Given the description of an element on the screen output the (x, y) to click on. 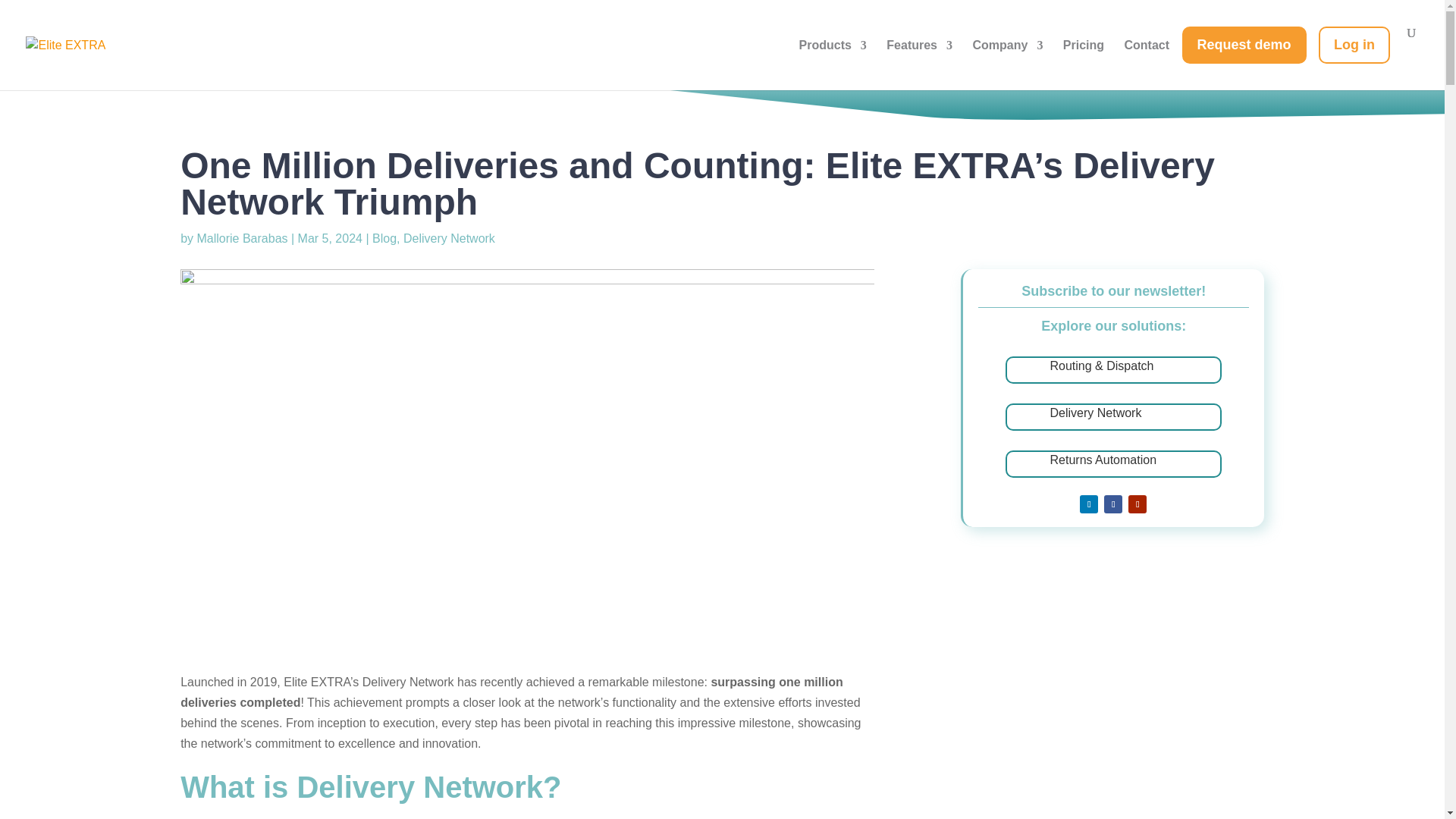
Request demo (1247, 58)
Log in (1358, 58)
Follow on Facebook (1112, 504)
Features (919, 58)
Blog (384, 237)
Mallorie Barabas (241, 237)
Follow on LinkedIn (1088, 504)
Company (1007, 58)
Contact (1147, 58)
Follow on Youtube (1137, 504)
